Given the description of an element on the screen output the (x, y) to click on. 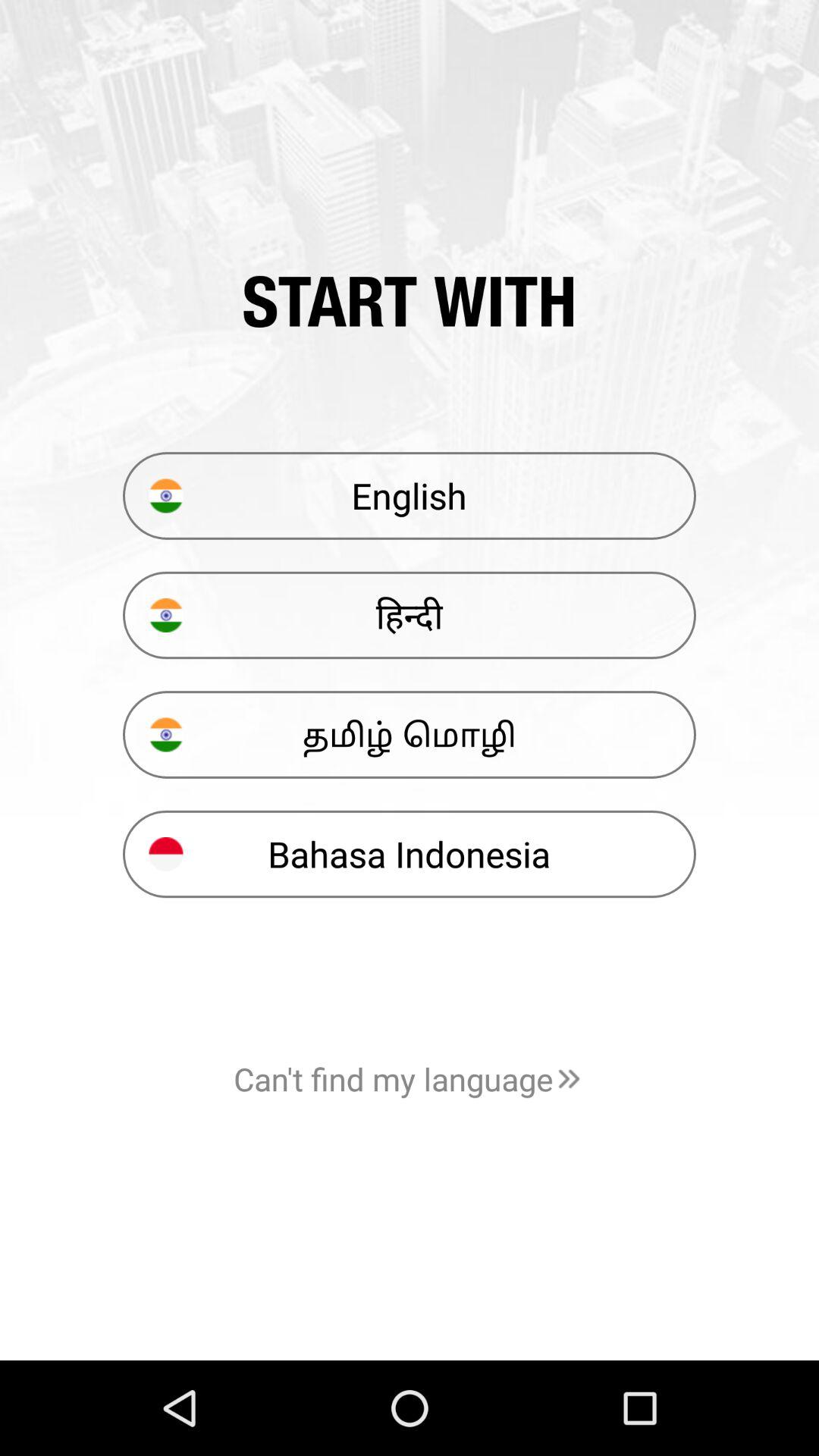
turn off can t find (409, 1078)
